Given the description of an element on the screen output the (x, y) to click on. 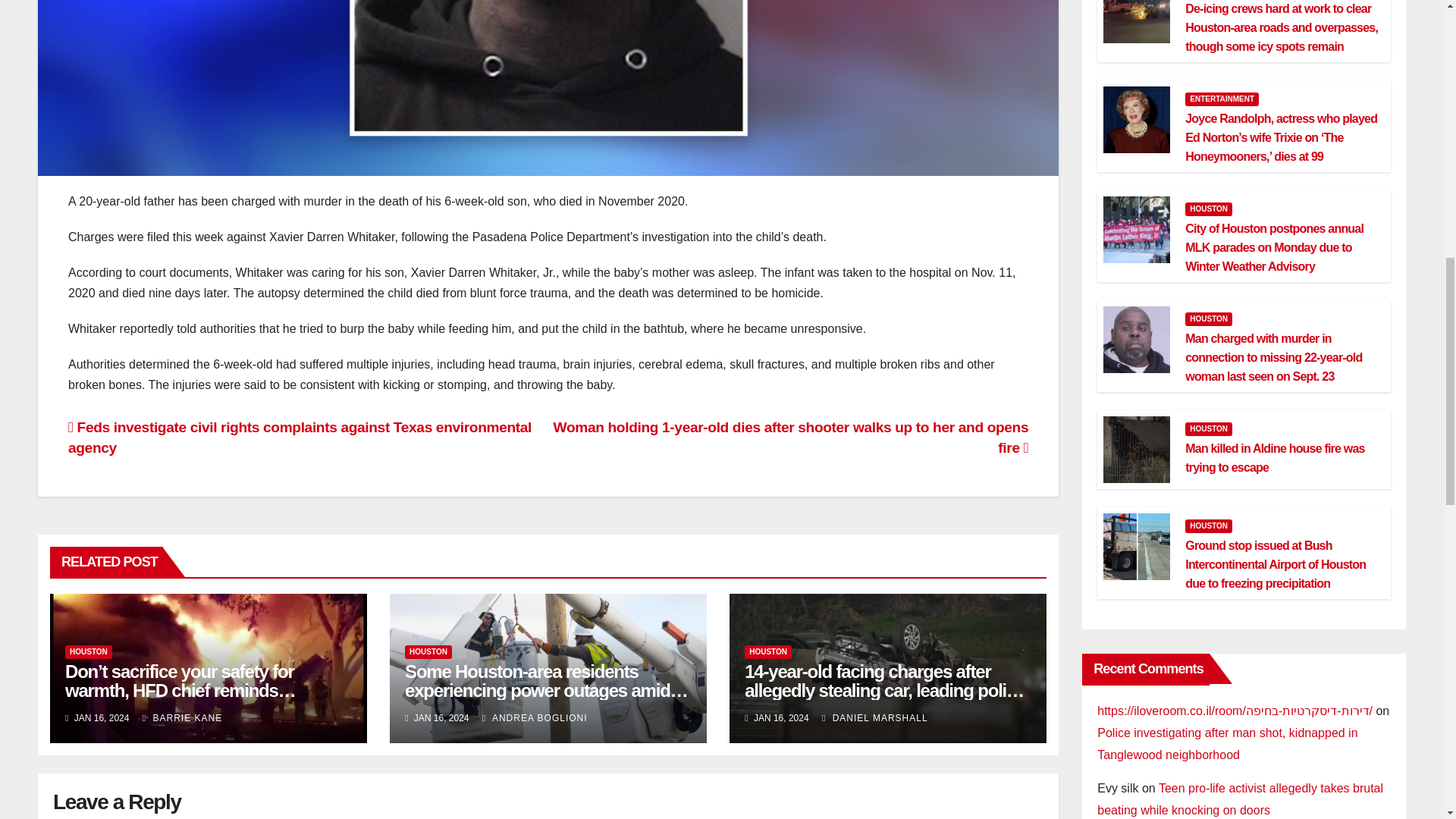
DANIEL MARSHALL (875, 717)
BARRIE KANE (182, 717)
ANDREA BOGLIONI (534, 717)
HOUSTON (88, 652)
HOUSTON (427, 652)
HOUSTON (768, 652)
